Given the description of an element on the screen output the (x, y) to click on. 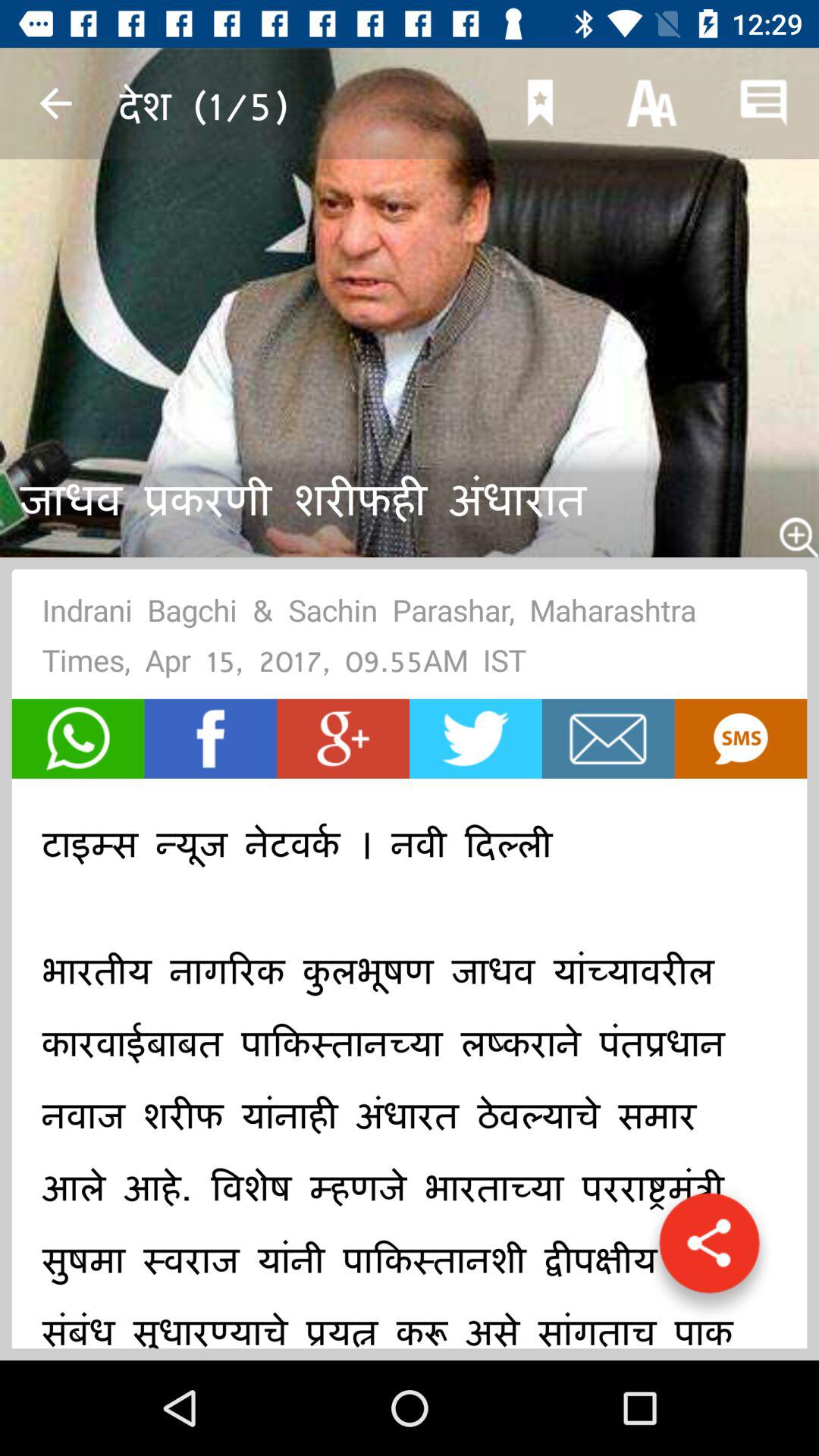
share on whatsapp (77, 738)
